Given the description of an element on the screen output the (x, y) to click on. 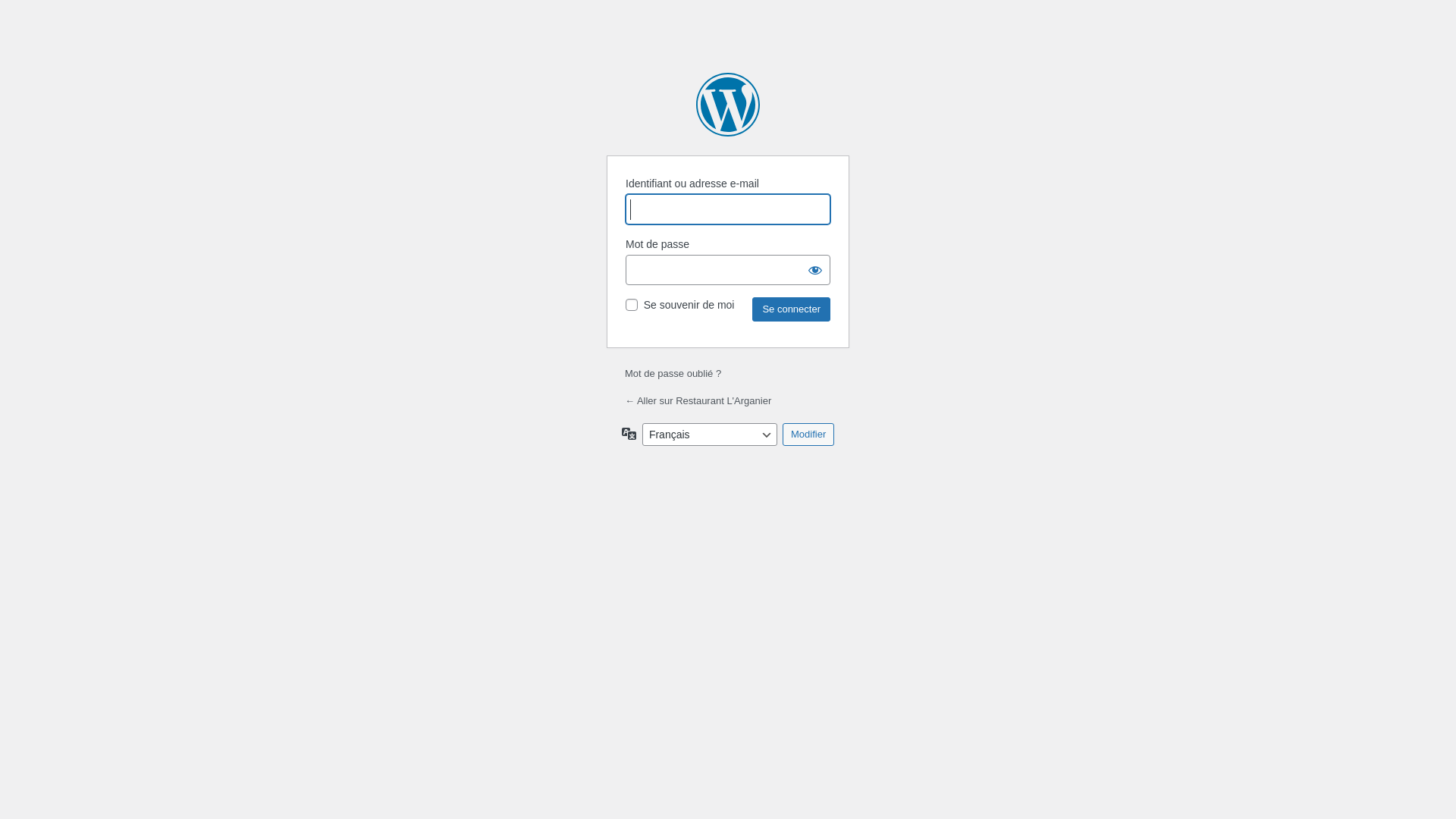
Se connecter Element type: text (791, 309)
Modifier Element type: text (808, 434)
